Given the description of an element on the screen output the (x, y) to click on. 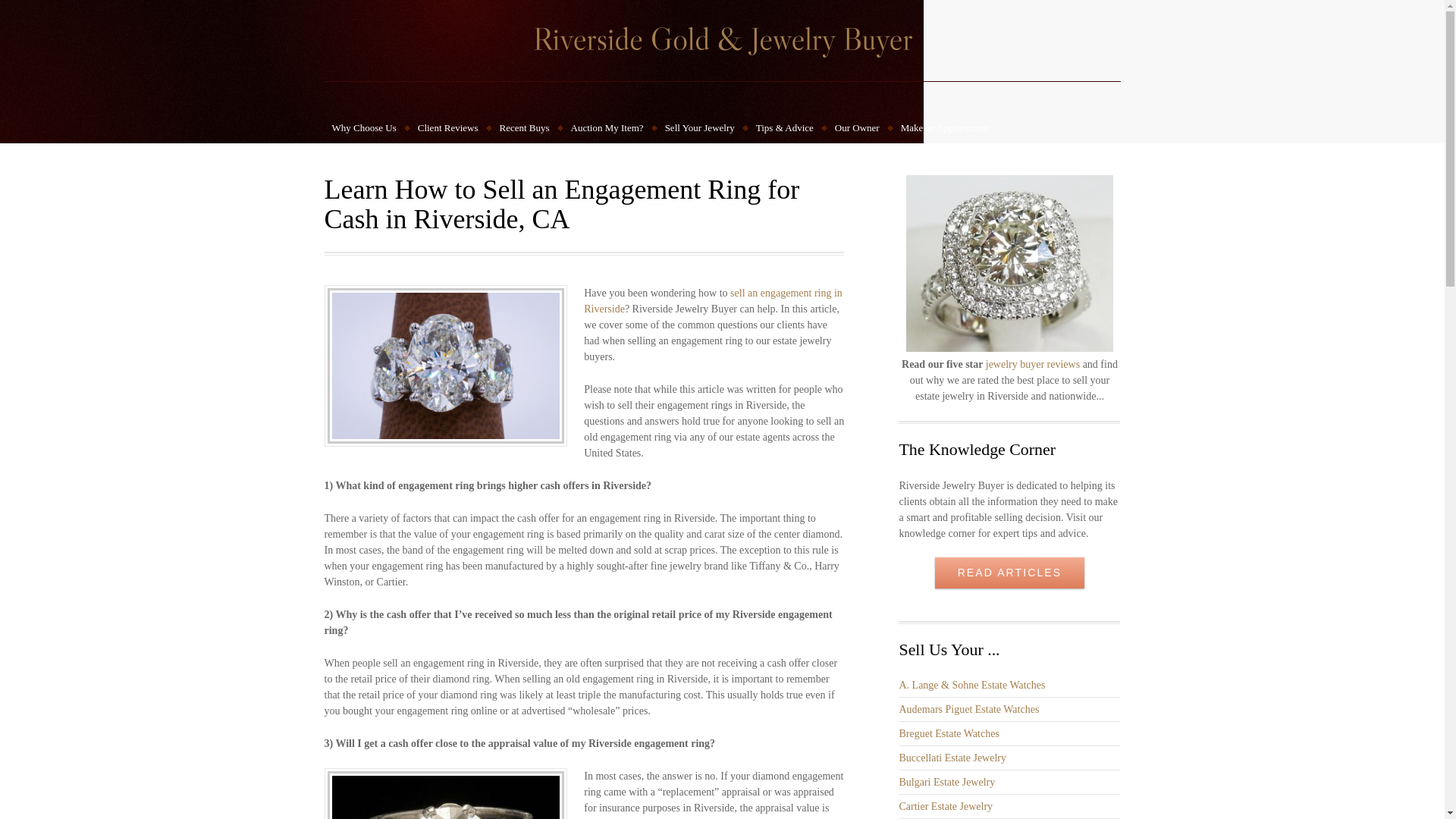
Sell Your Jewelry (700, 128)
Why Choose Us (364, 128)
READ ARTICLES (1009, 572)
Auction My Item? (606, 128)
Client Reviews (448, 128)
Audemars Piguet Estate Watches (968, 708)
Riverside Jewelry Buyers Reviews (1009, 348)
Our Owner (856, 128)
Riverside Diamond Ring Buyers (713, 300)
Riverside Jewelry Buyer Reviews (1032, 364)
Cartier Estate Jewelry (945, 806)
sell an engagement ring in Riverside (713, 300)
Bulgari Estate Jewelry (946, 781)
jewelry buyer reviews (1032, 364)
Recent Buys (524, 128)
